Given the description of an element on the screen output the (x, y) to click on. 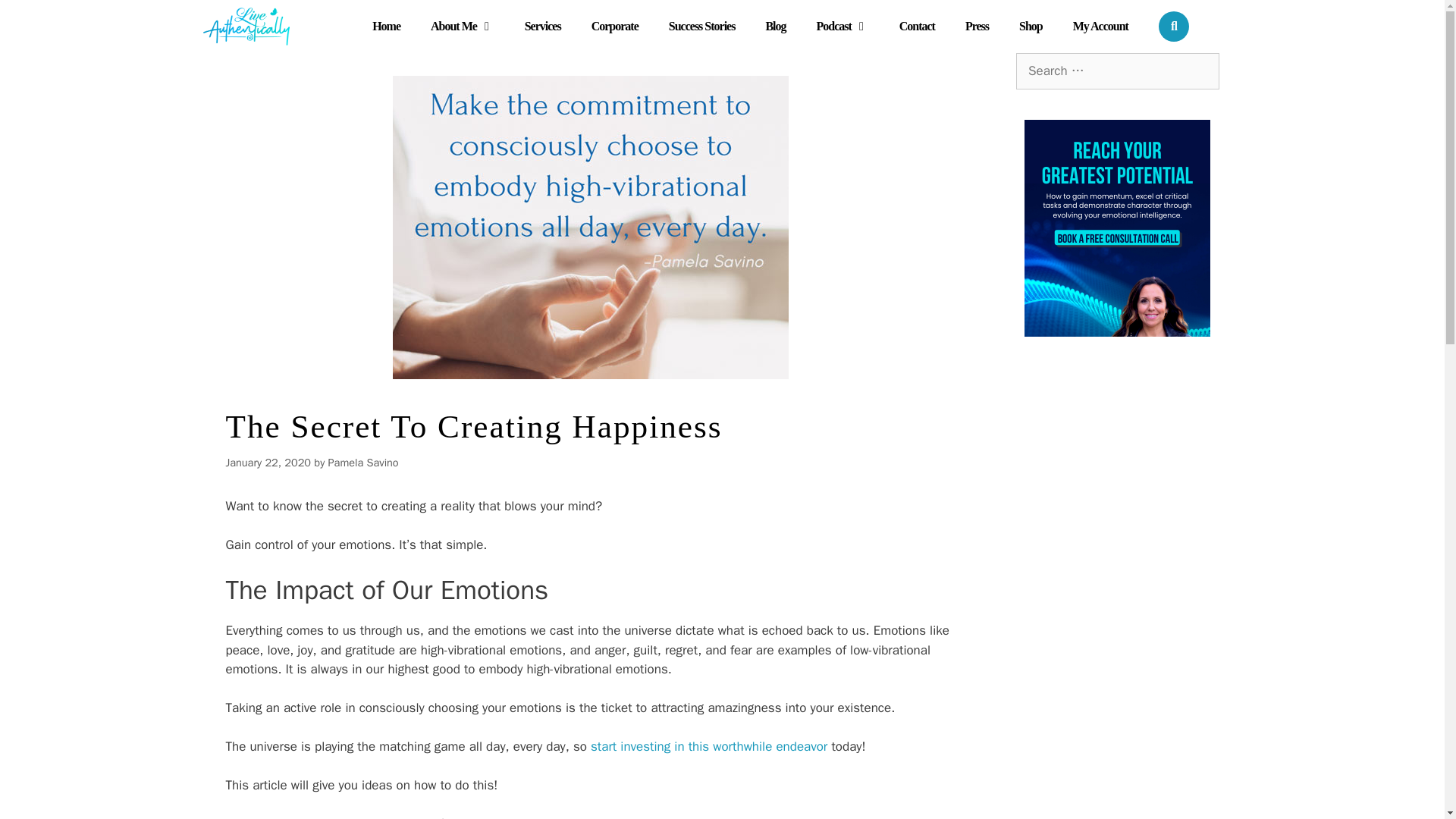
Services (542, 26)
Live Authentically (246, 26)
About Me (461, 26)
Press (977, 26)
Corporate (614, 26)
Contact (916, 26)
Shop (1031, 26)
Search for: (1118, 71)
Home (385, 26)
View all posts by Pamela Savino (363, 462)
